Given the description of an element on the screen output the (x, y) to click on. 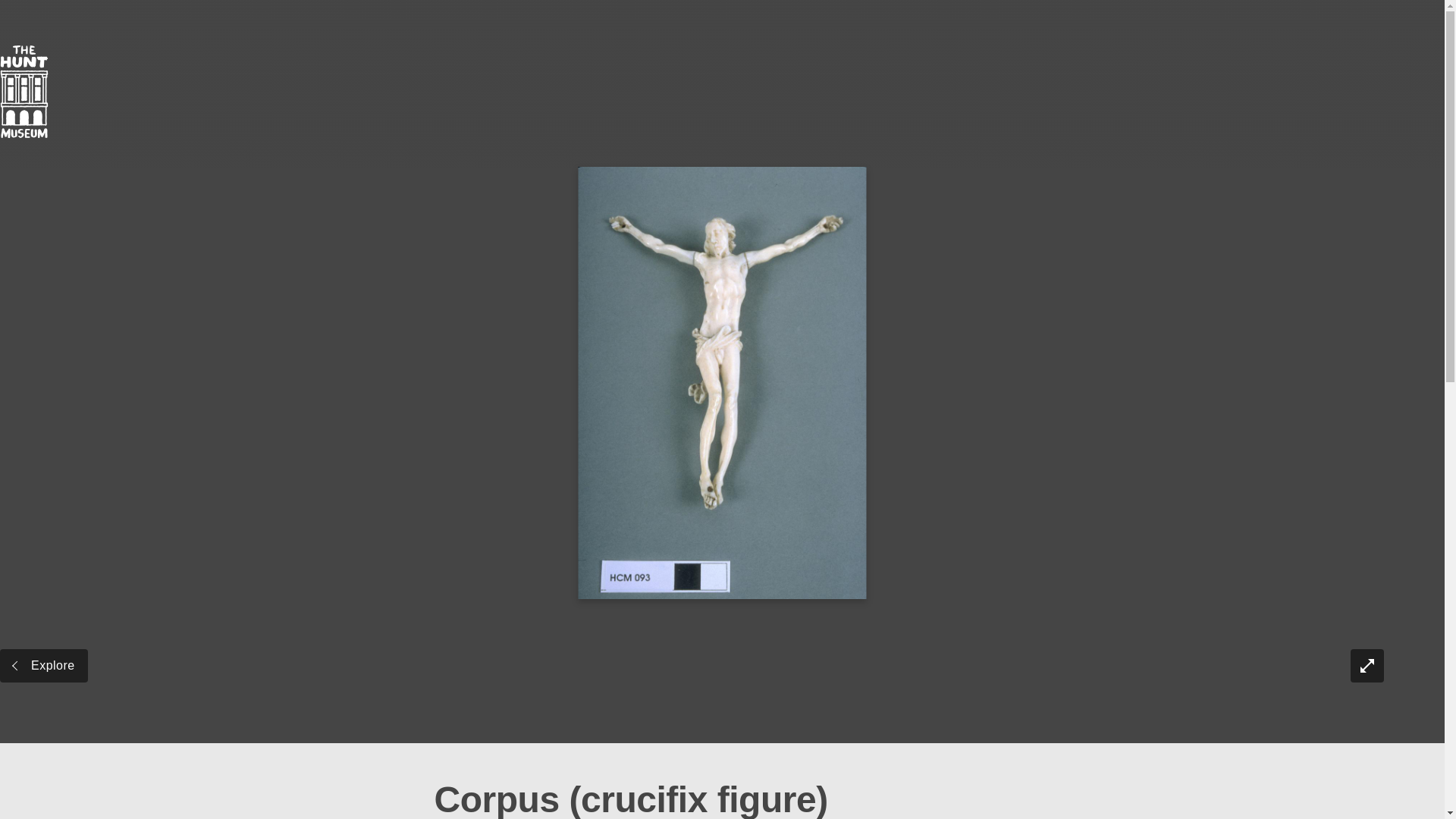
Explore (43, 665)
